Given the description of an element on the screen output the (x, y) to click on. 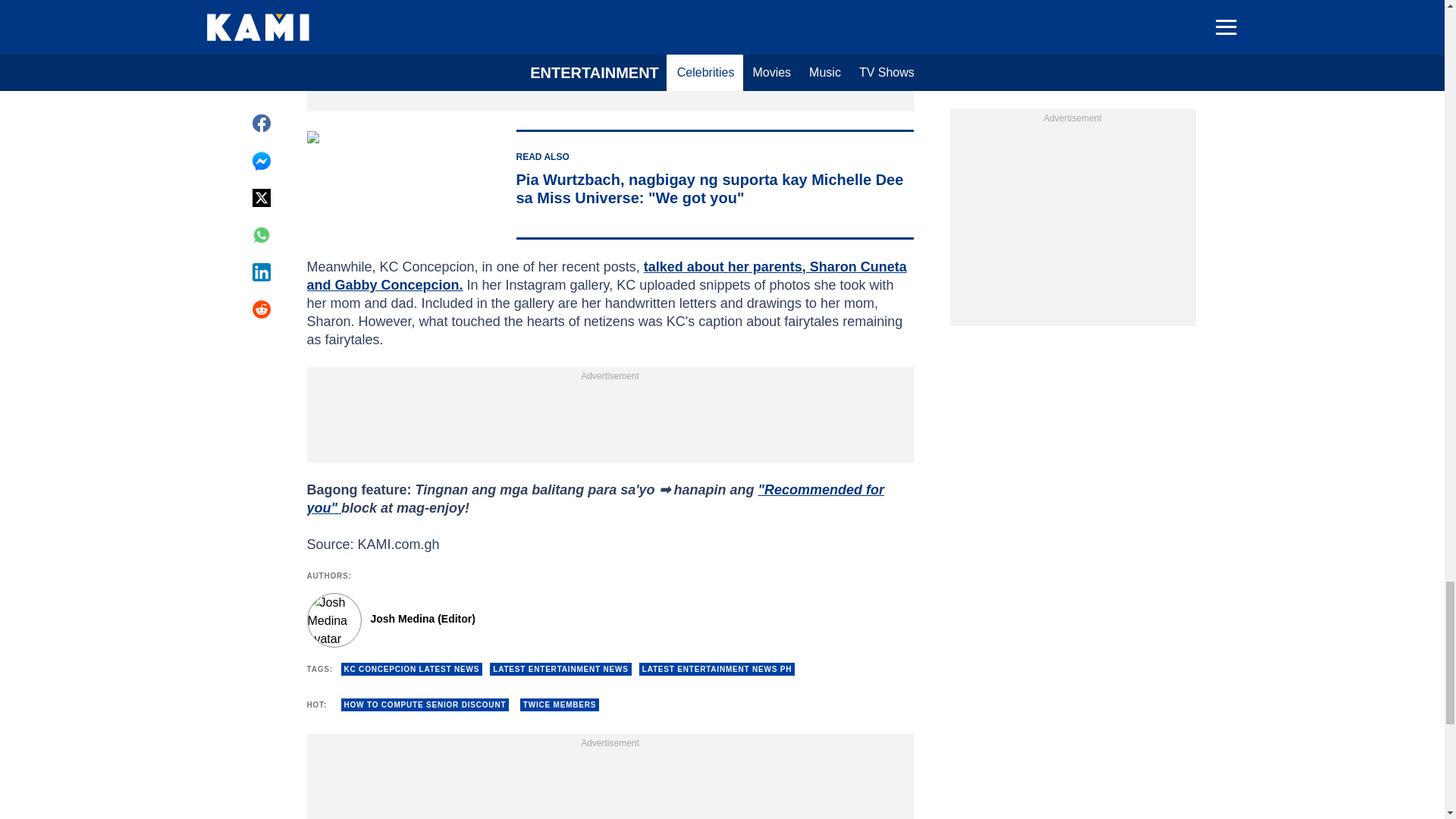
Author page (533, 619)
